Given the description of an element on the screen output the (x, y) to click on. 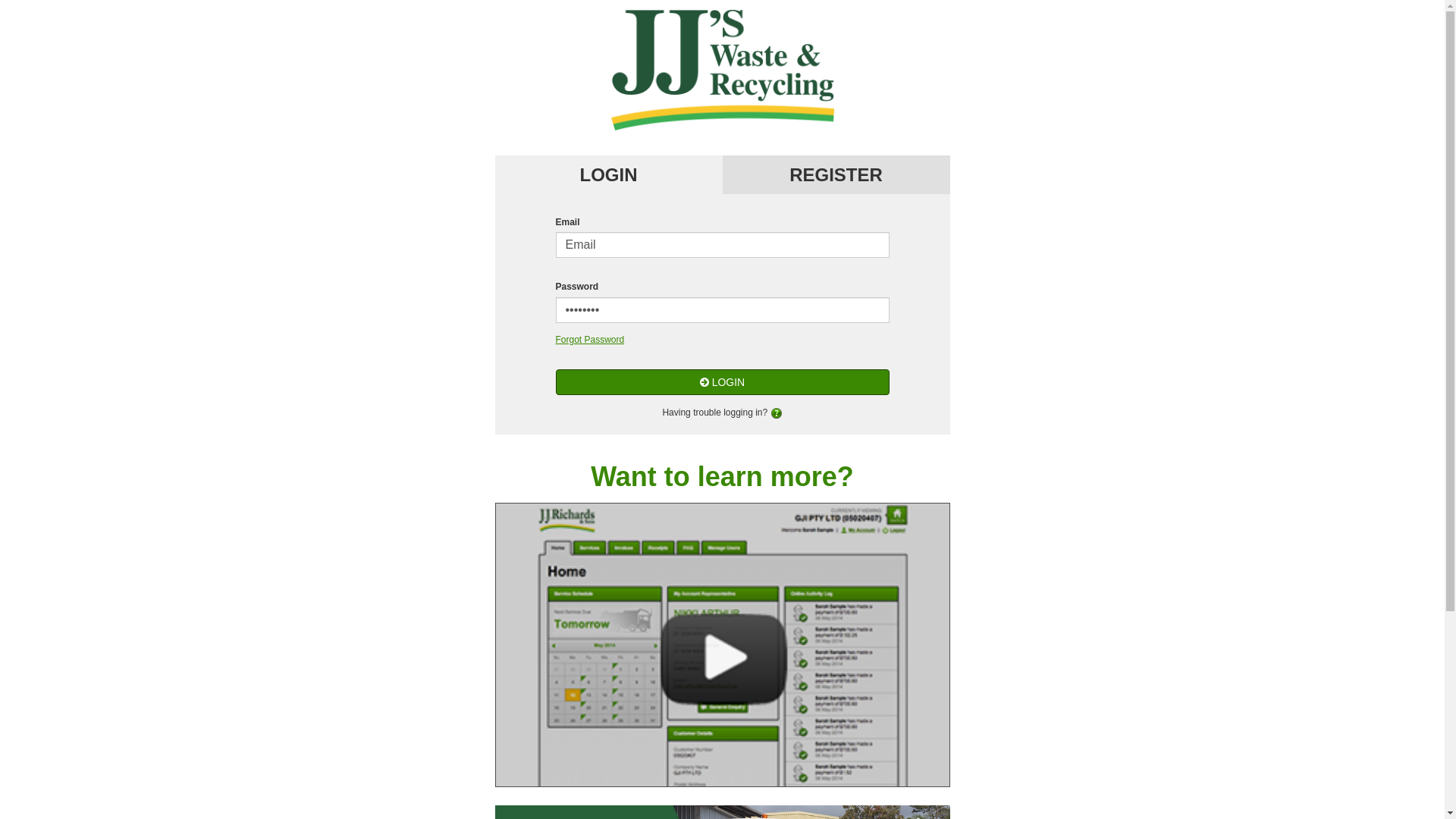
Want to learn more? Element type: text (721, 476)
Forgot Password Element type: text (589, 339)
LOGIN Element type: text (608, 174)
LOGIN Element type: text (721, 382)
REGISTER Element type: text (835, 174)
